Given the description of an element on the screen output the (x, y) to click on. 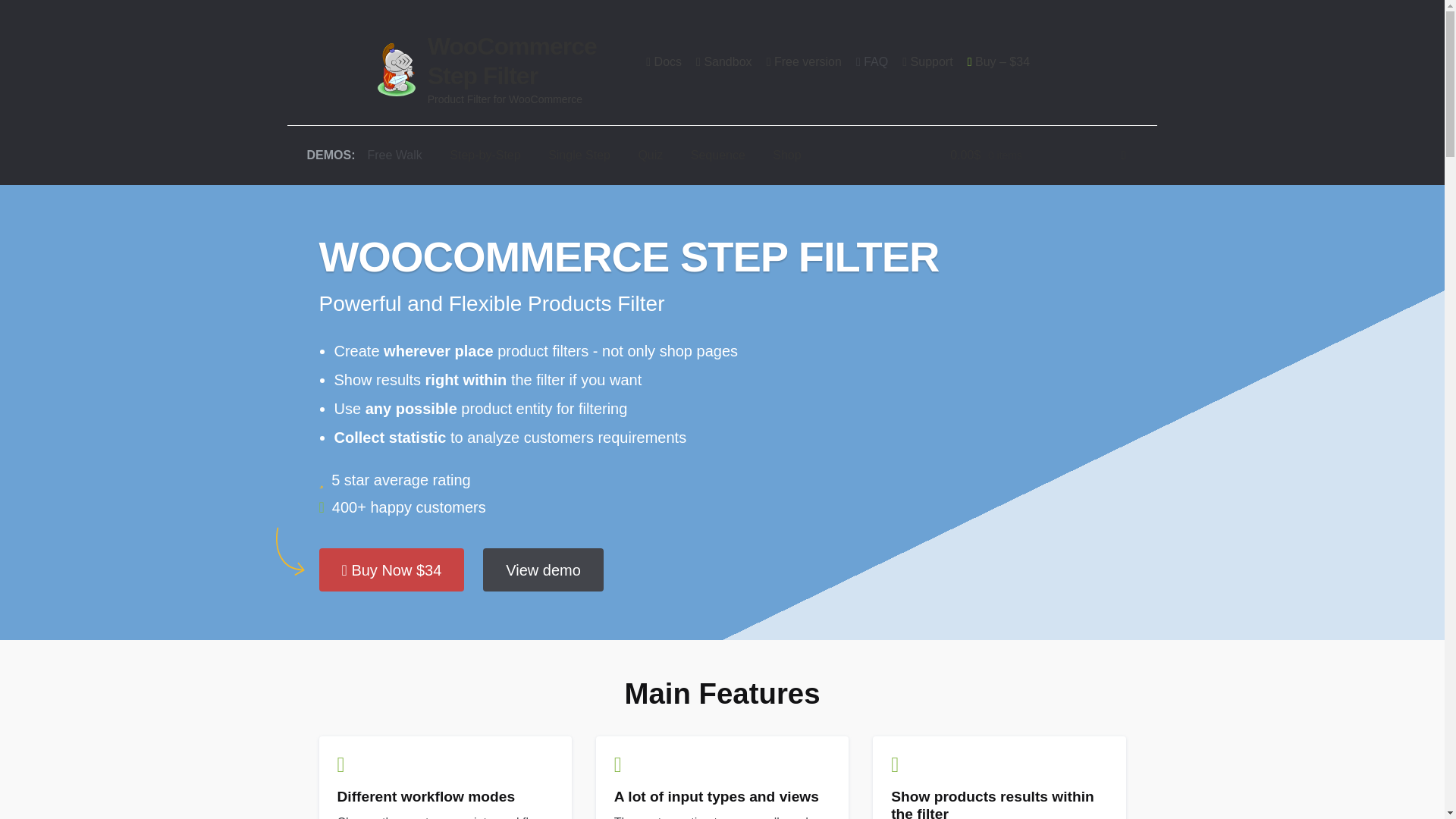
Try the admin part of the plugin (724, 61)
Free Walk (394, 155)
Step-by-Step (485, 155)
Get the plugin for your site! (1000, 61)
Frequently Asked Questions (872, 61)
Support (928, 61)
WooCommerce Step Filter (512, 60)
View your shopping cart (1037, 155)
Ask a question or solve an issue (928, 61)
FAQ (872, 61)
